Given the description of an element on the screen output the (x, y) to click on. 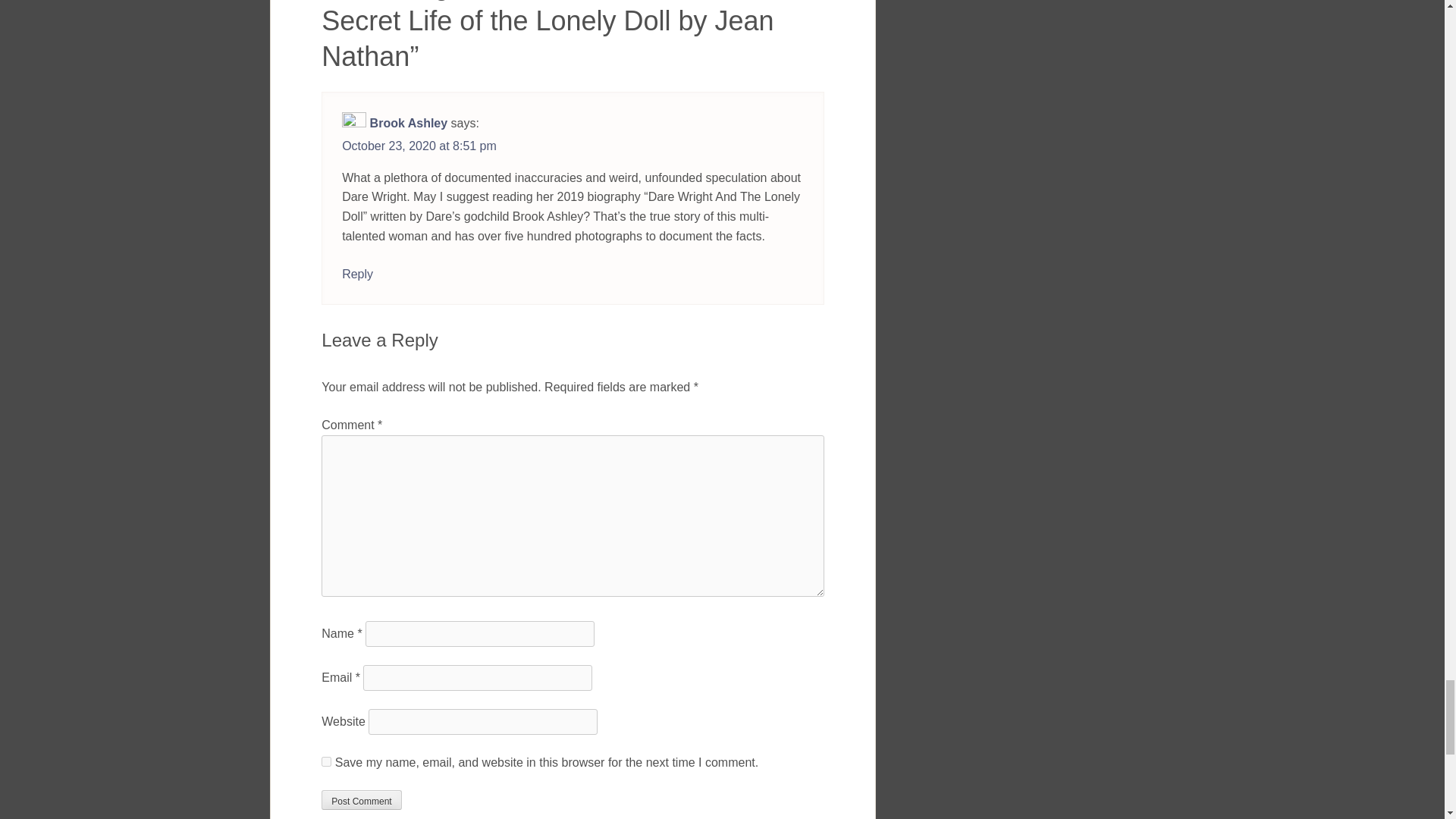
Brook Ashley (408, 123)
Post Comment (361, 799)
yes (326, 761)
